Given the description of an element on the screen output the (x, y) to click on. 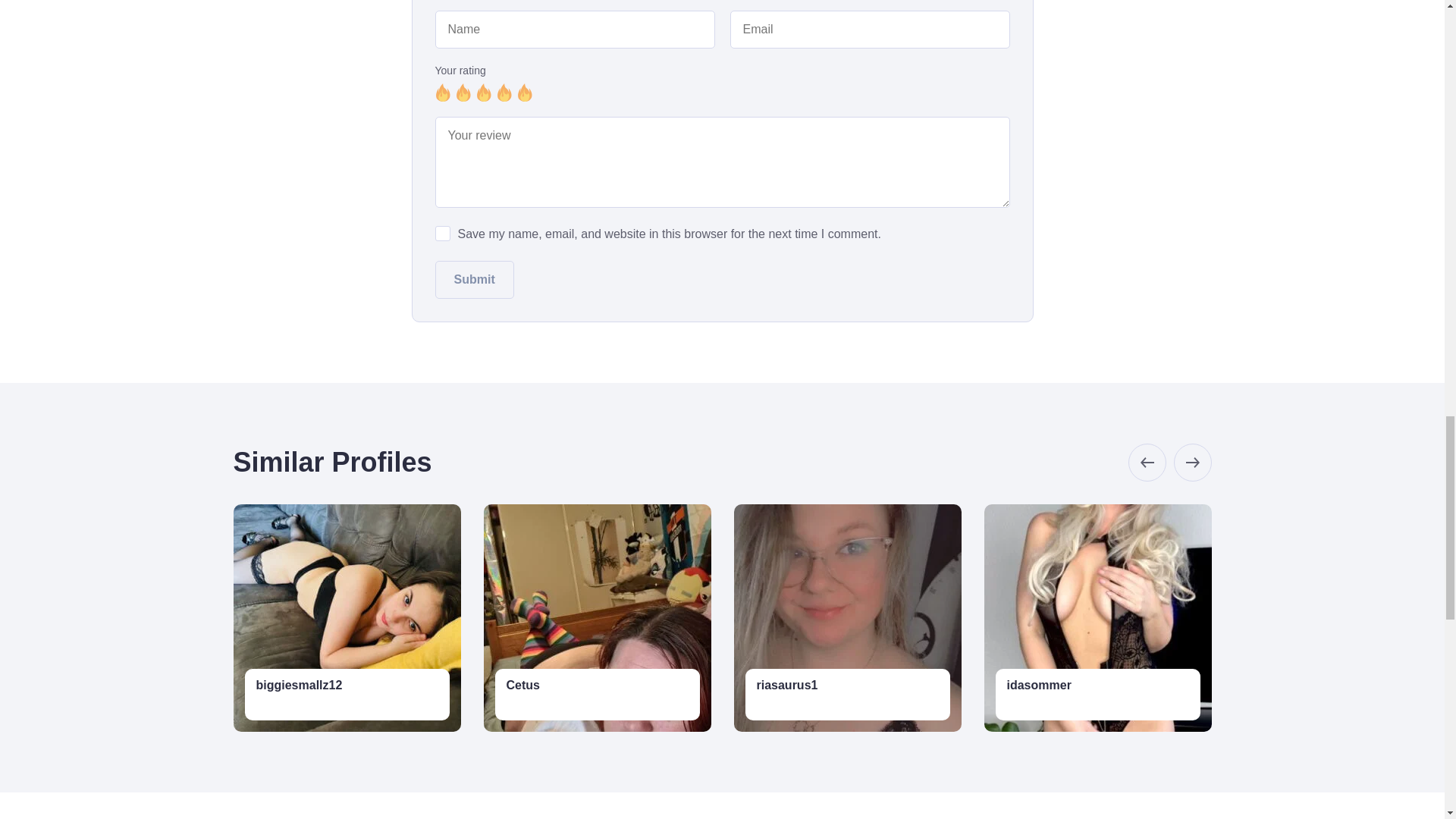
OnlyFans (1027, 704)
OnlyFans (277, 704)
OnlyFans (777, 704)
OnlyFans (527, 704)
yes (442, 233)
Submit (474, 279)
